Given the description of an element on the screen output the (x, y) to click on. 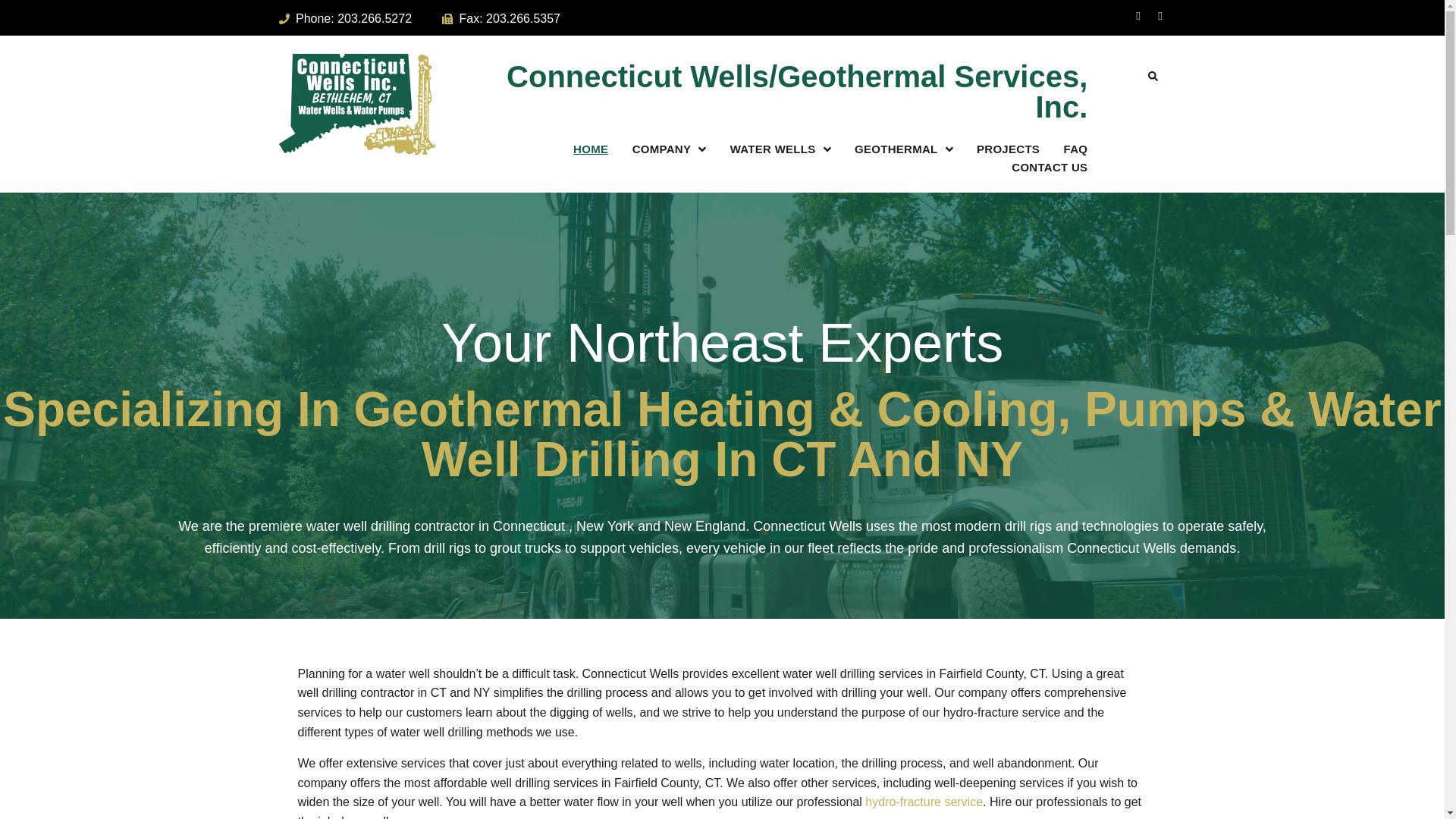
Phone: 203.266.5272 (345, 18)
FAQ (1075, 149)
HOME (590, 149)
WATER WELLS (780, 149)
Hydro-Fracture Service (923, 801)
PROJECTS (1007, 149)
CONTACT US (1049, 167)
GEOTHERMAL (903, 149)
COMPANY (668, 149)
